Given the description of an element on the screen output the (x, y) to click on. 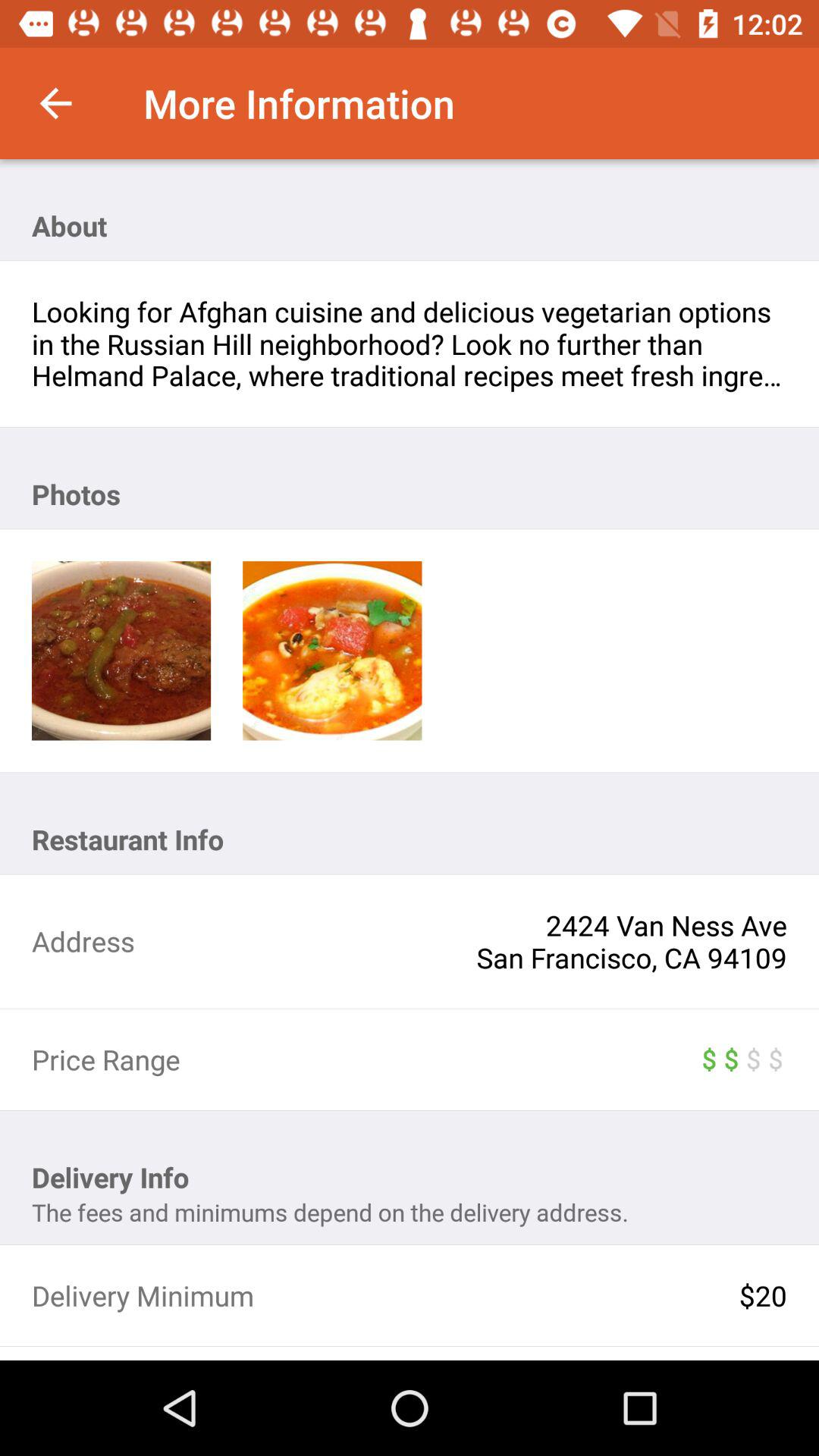
choose the looking for afghan (409, 344)
